Given the description of an element on the screen output the (x, y) to click on. 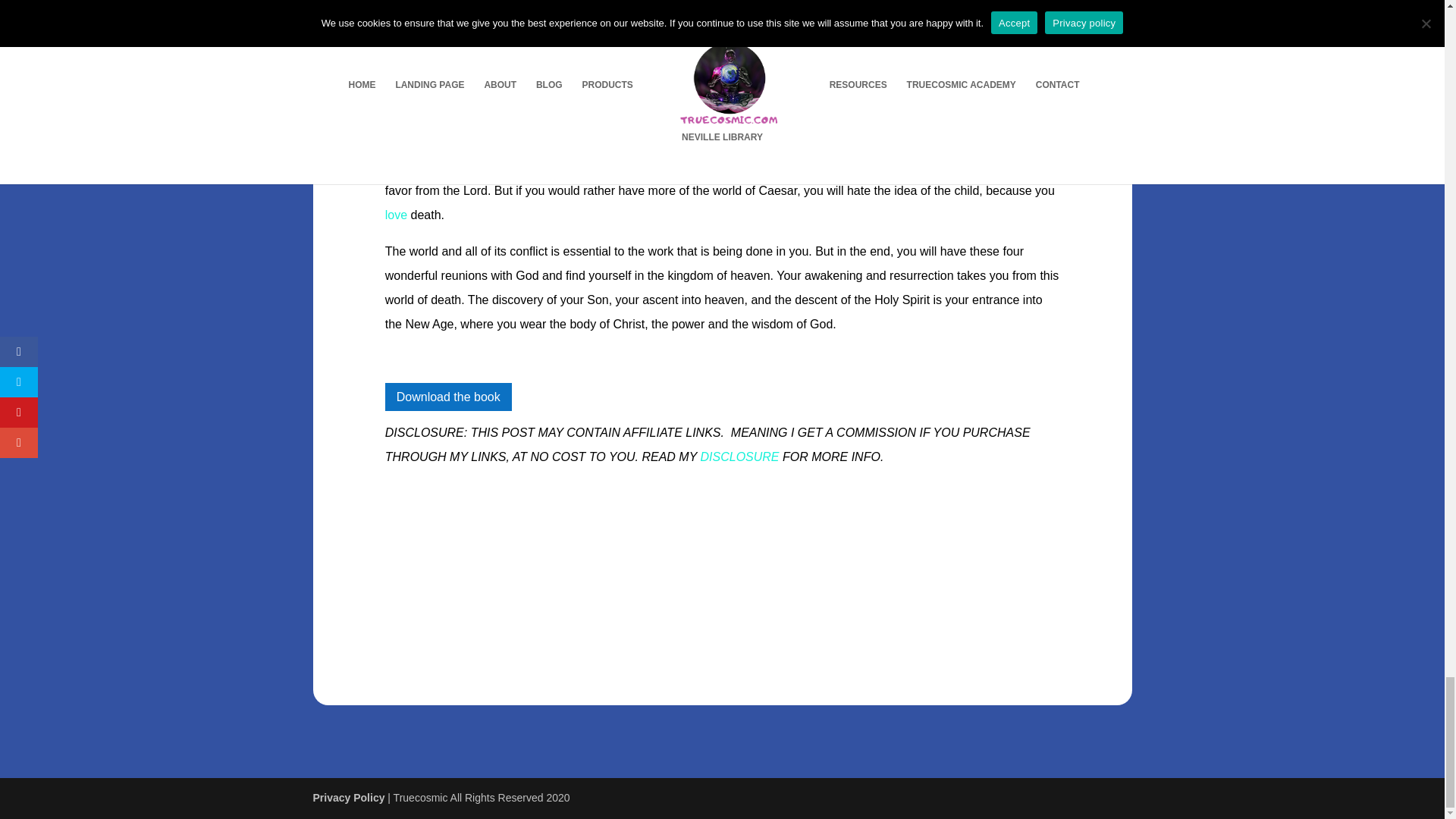
love (396, 214)
DISCLOSURE (739, 456)
love and relationships (396, 214)
Privacy Policy (348, 797)
Download the book (448, 397)
